Given the description of an element on the screen output the (x, y) to click on. 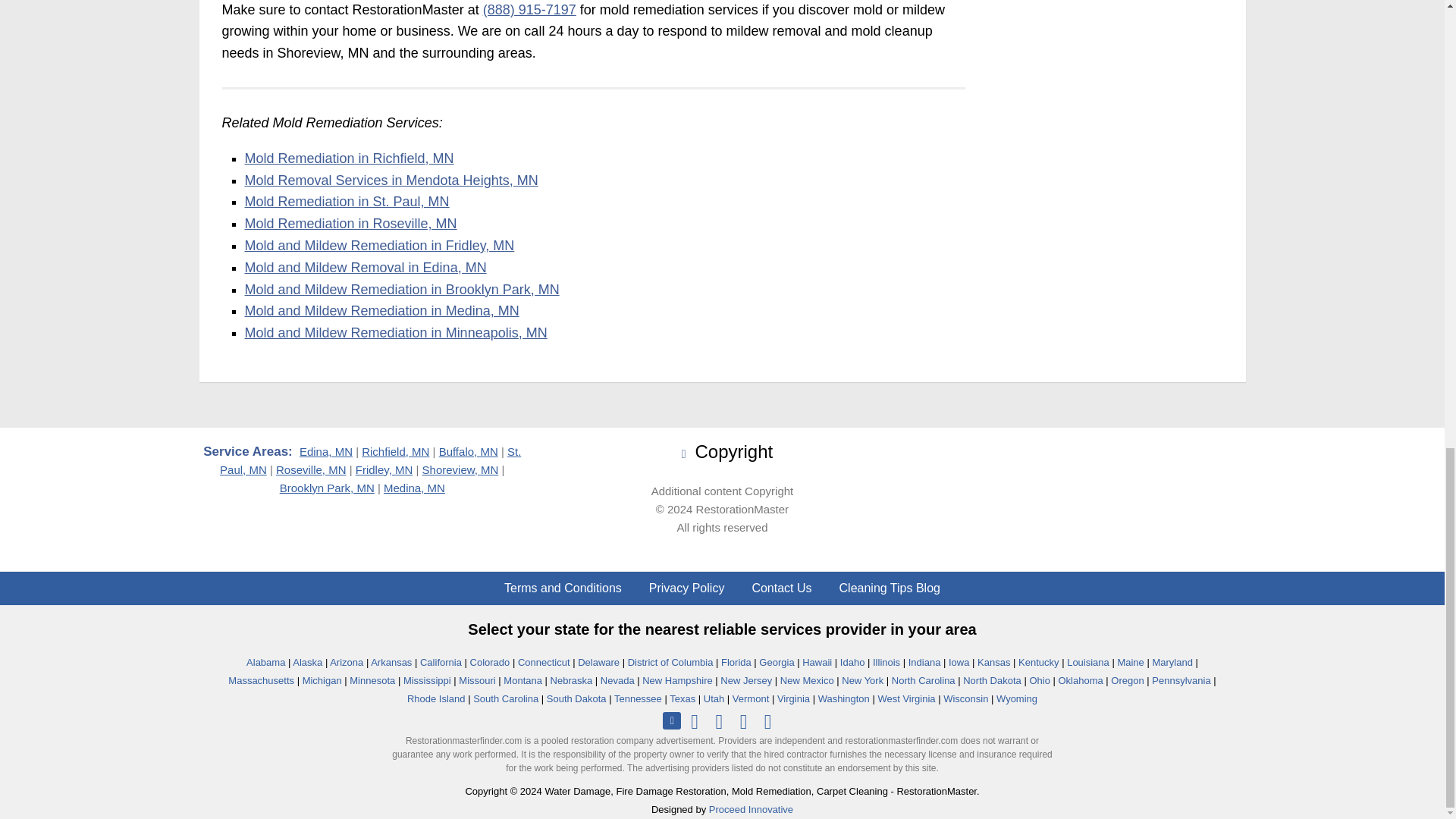
Follow us on Linkedin (743, 721)
Follow us on Youtube (767, 721)
Follow us on Google (671, 720)
Follow us on Facebook (694, 721)
Follow us on Twitter (719, 721)
